Given the description of an element on the screen output the (x, y) to click on. 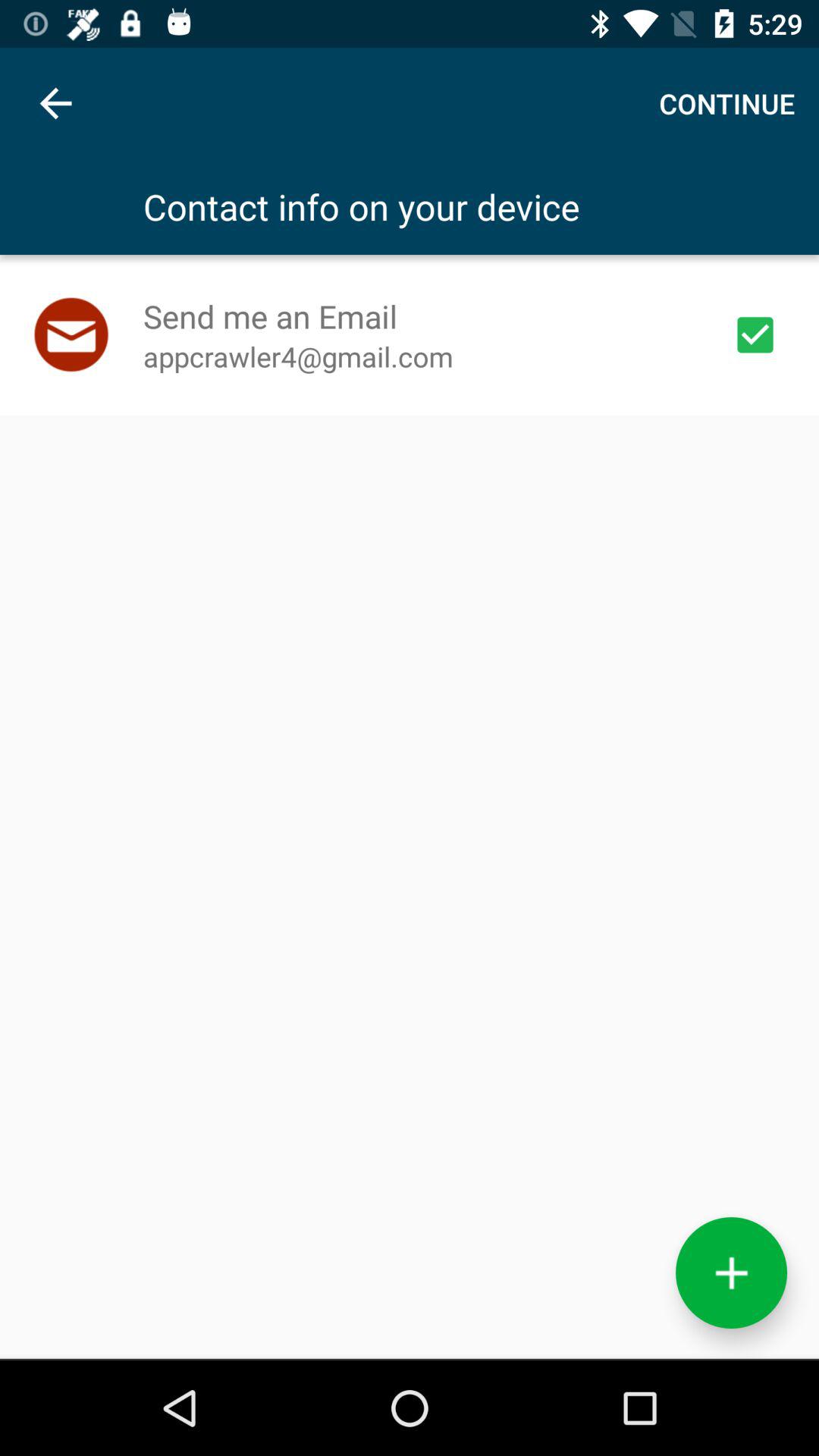
turn on the item above contact info on (727, 103)
